Given the description of an element on the screen output the (x, y) to click on. 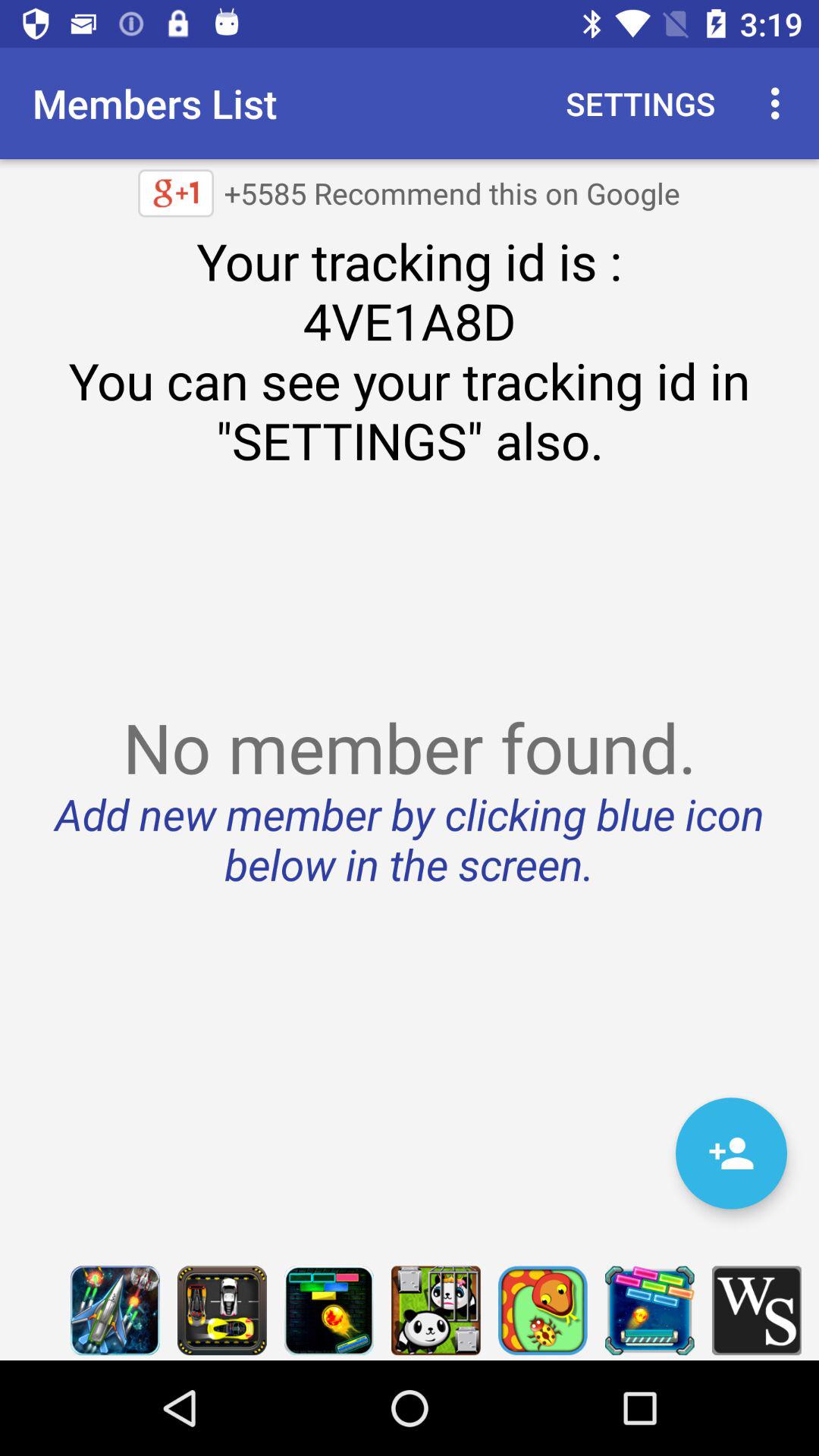
go to game (114, 1310)
